Given the description of an element on the screen output the (x, y) to click on. 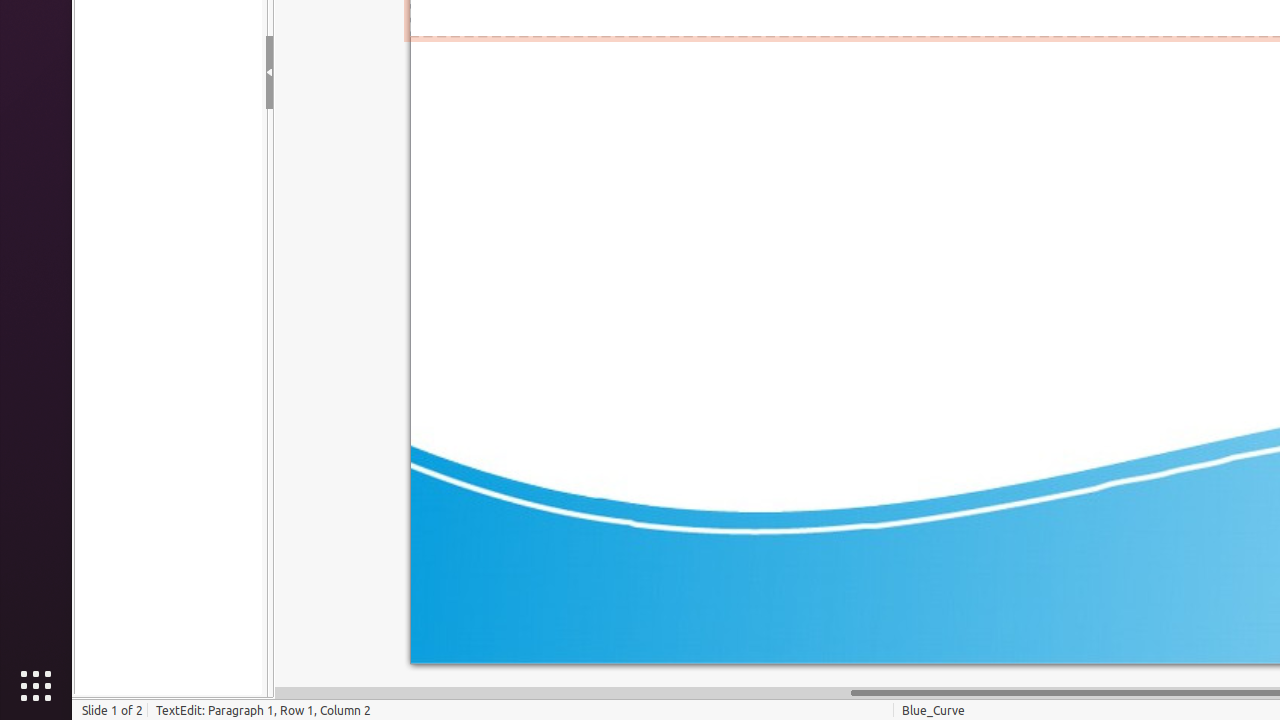
Show Applications Element type: toggle-button (36, 686)
